Given the description of an element on the screen output the (x, y) to click on. 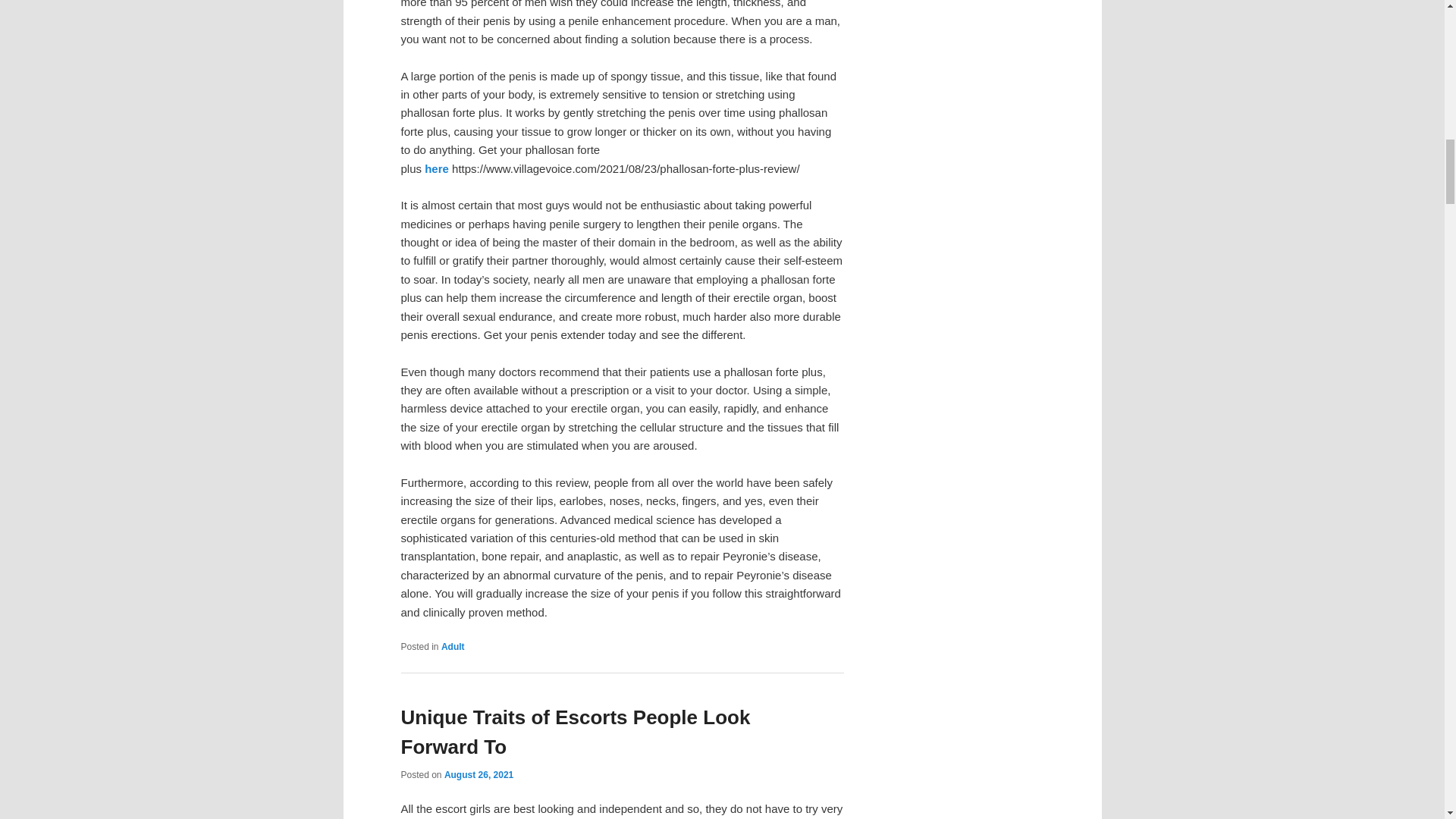
Adult (452, 646)
here (436, 168)
Unique Traits of Escorts People Look Forward To (574, 731)
11:43 am (478, 774)
August 26, 2021 (478, 774)
